Given the description of an element on the screen output the (x, y) to click on. 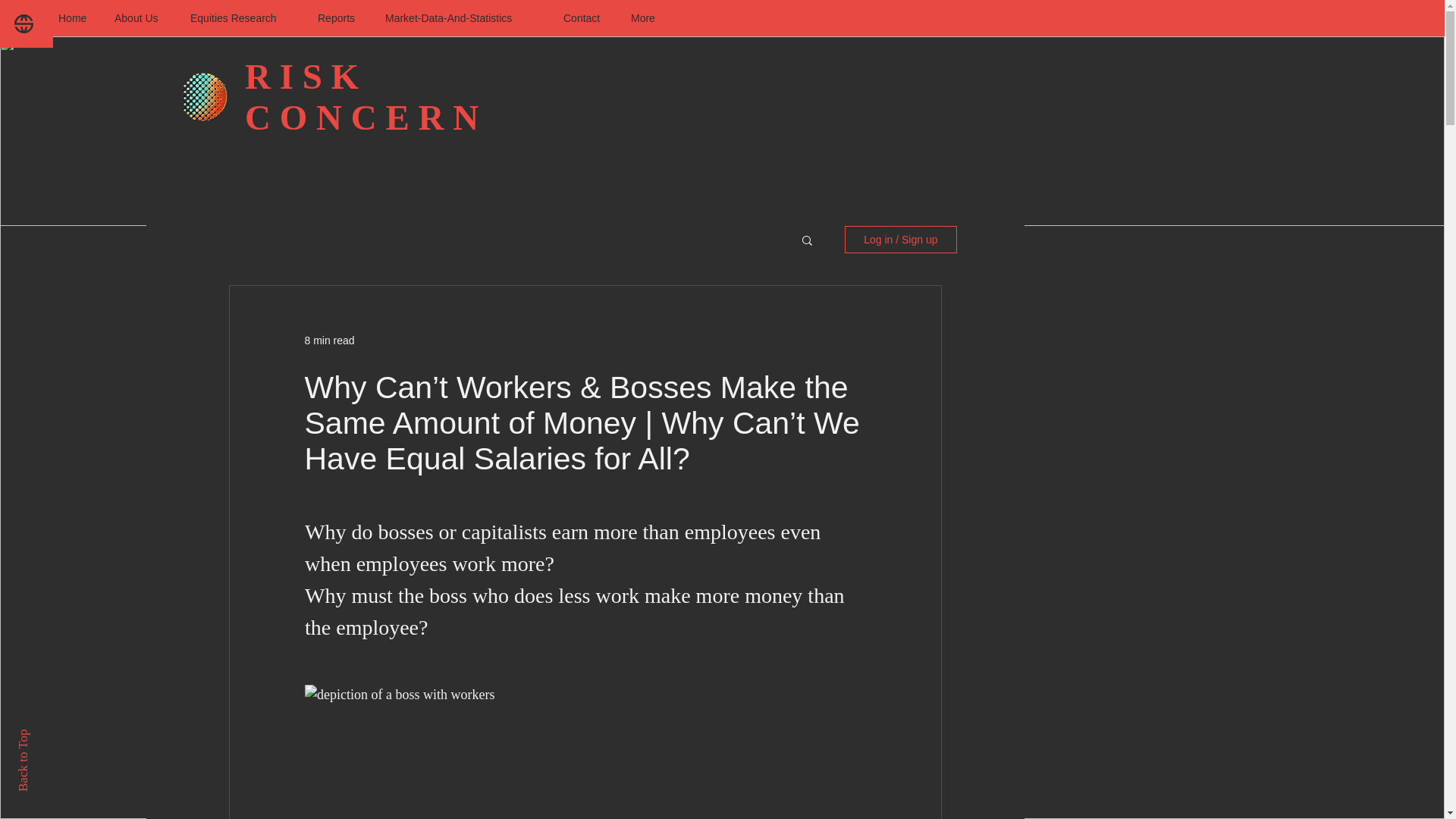
Equities Research (242, 17)
Home (74, 17)
Market-Data-And-Statistics (462, 17)
Reports (339, 17)
Back to Top (47, 735)
8 min read (329, 339)
Contact (585, 17)
About Us (141, 17)
